Given the description of an element on the screen output the (x, y) to click on. 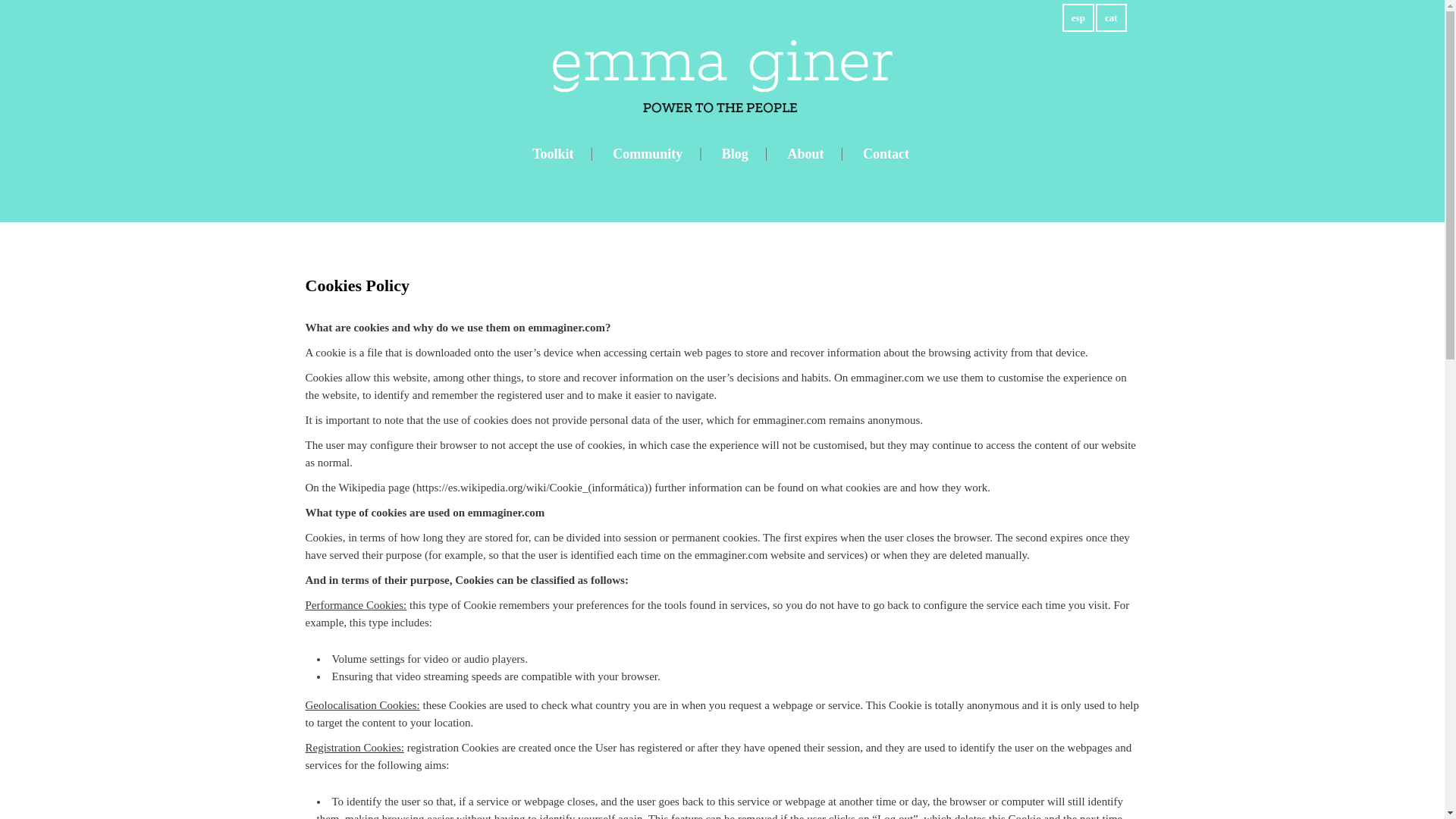
cat (1111, 17)
Community (647, 153)
esp (1078, 17)
Contact (885, 153)
Toolkit (552, 153)
cat (1111, 17)
esp (1078, 17)
About (804, 153)
